Given the description of an element on the screen output the (x, y) to click on. 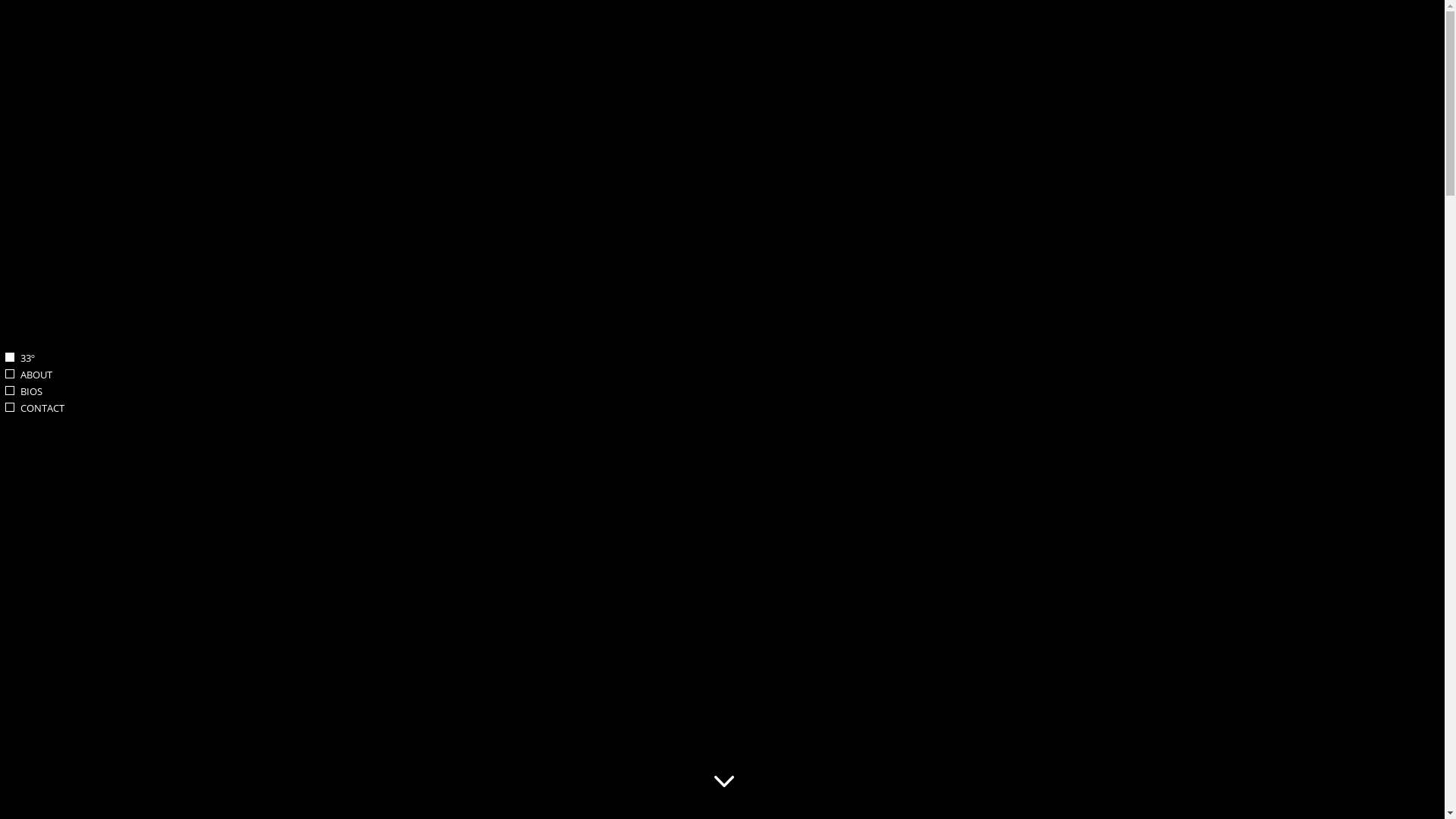
0 Element type: text (9, 356)
3 Element type: text (721, 780)
5 Element type: text (9, 406)
1 Element type: text (9, 373)
3 Element type: text (9, 390)
